Given the description of an element on the screen output the (x, y) to click on. 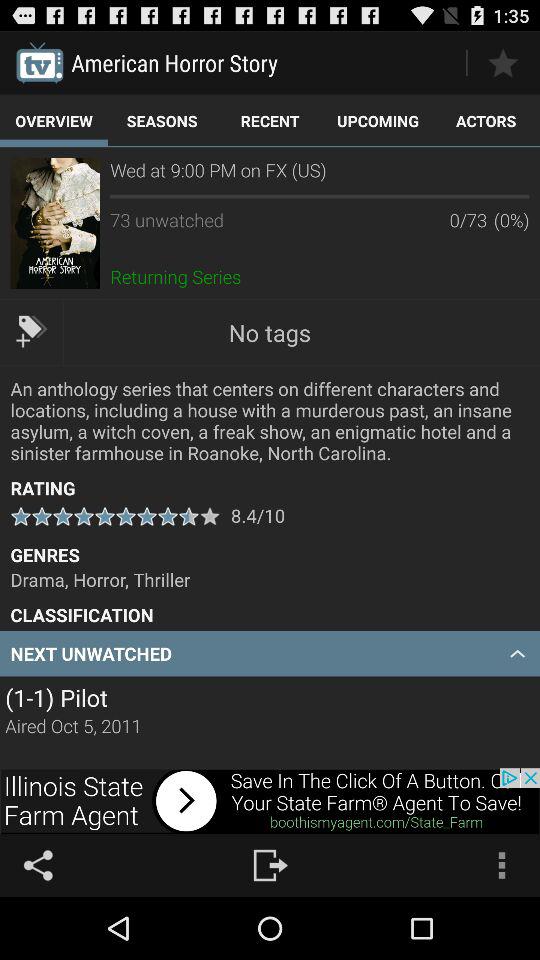
go to fair vote (502, 62)
